Given the description of an element on the screen output the (x, y) to click on. 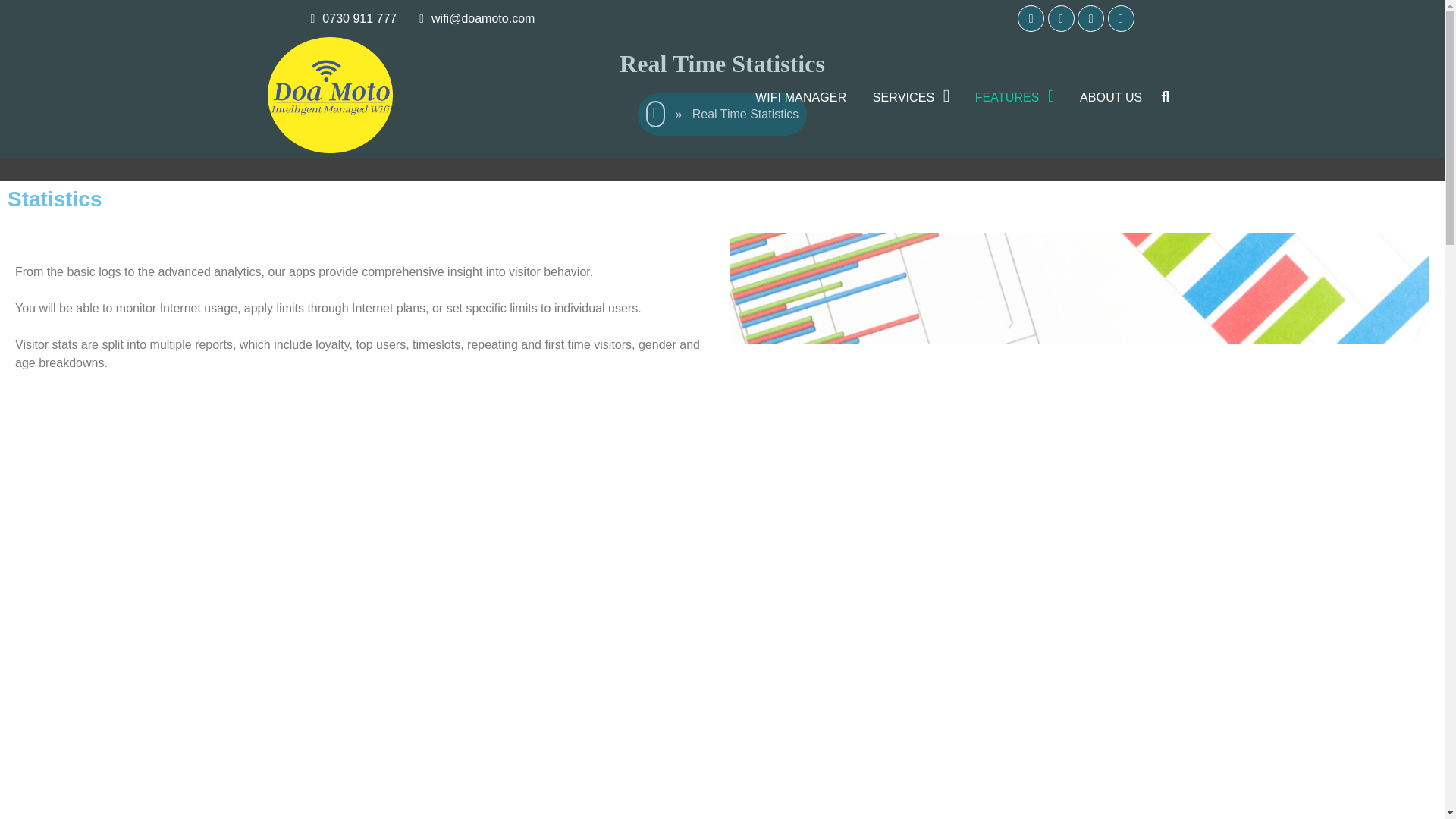
Doa Moto (317, 180)
FEATURES (1014, 97)
SERVICES (910, 97)
WIFI MANAGER (800, 97)
